Given the description of an element on the screen output the (x, y) to click on. 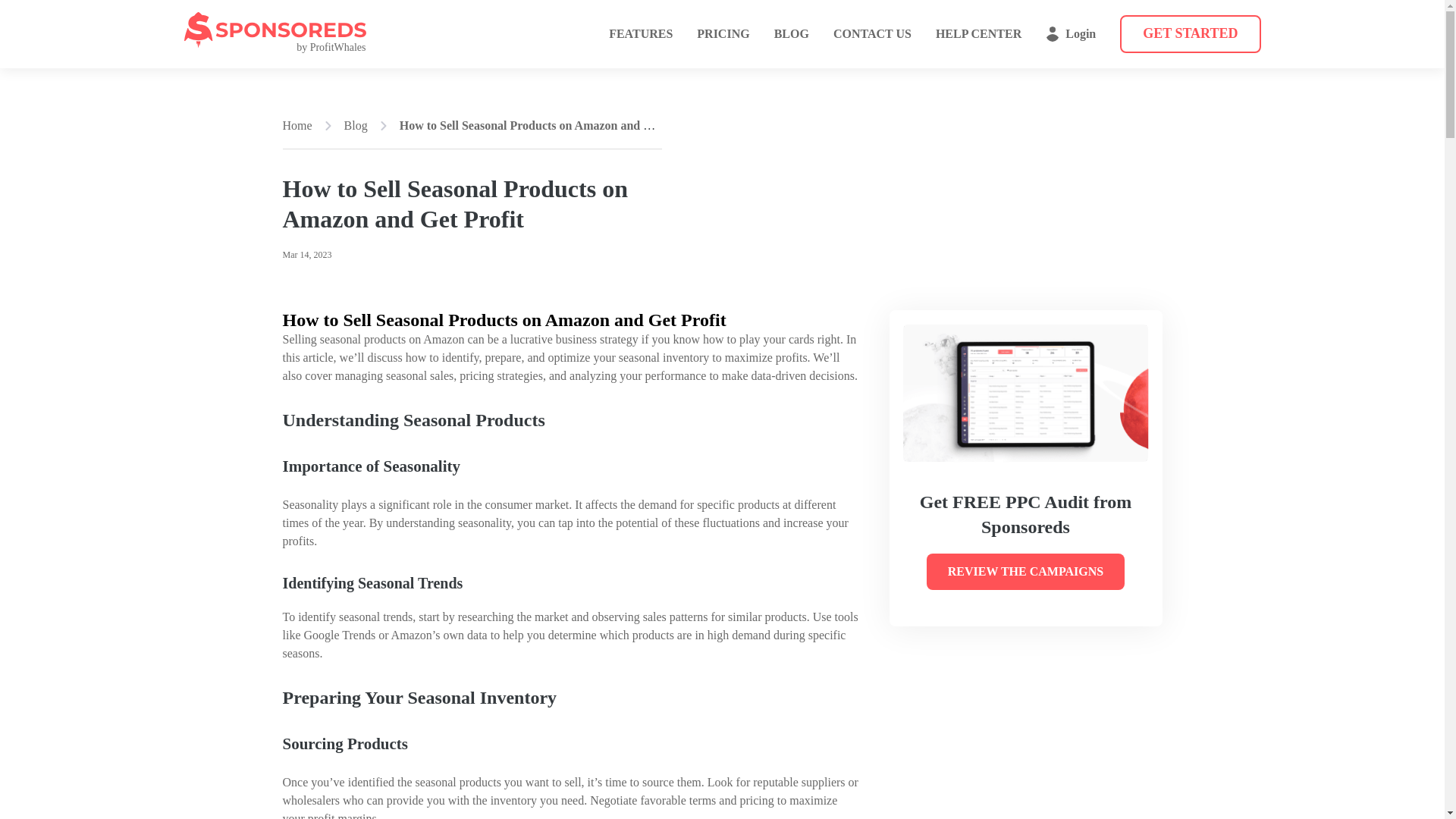
How to Sell Seasonal Products on Amazon and Get Profit (546, 124)
Blog (355, 126)
Home (296, 126)
REVIEW THE CAMPAIGNS (1025, 571)
BLOG (791, 33)
PRICING (723, 33)
CONTACT US (871, 33)
HELP CENTER (979, 33)
by ProfitWhales (274, 33)
GET STARTED (1189, 34)
